Given the description of an element on the screen output the (x, y) to click on. 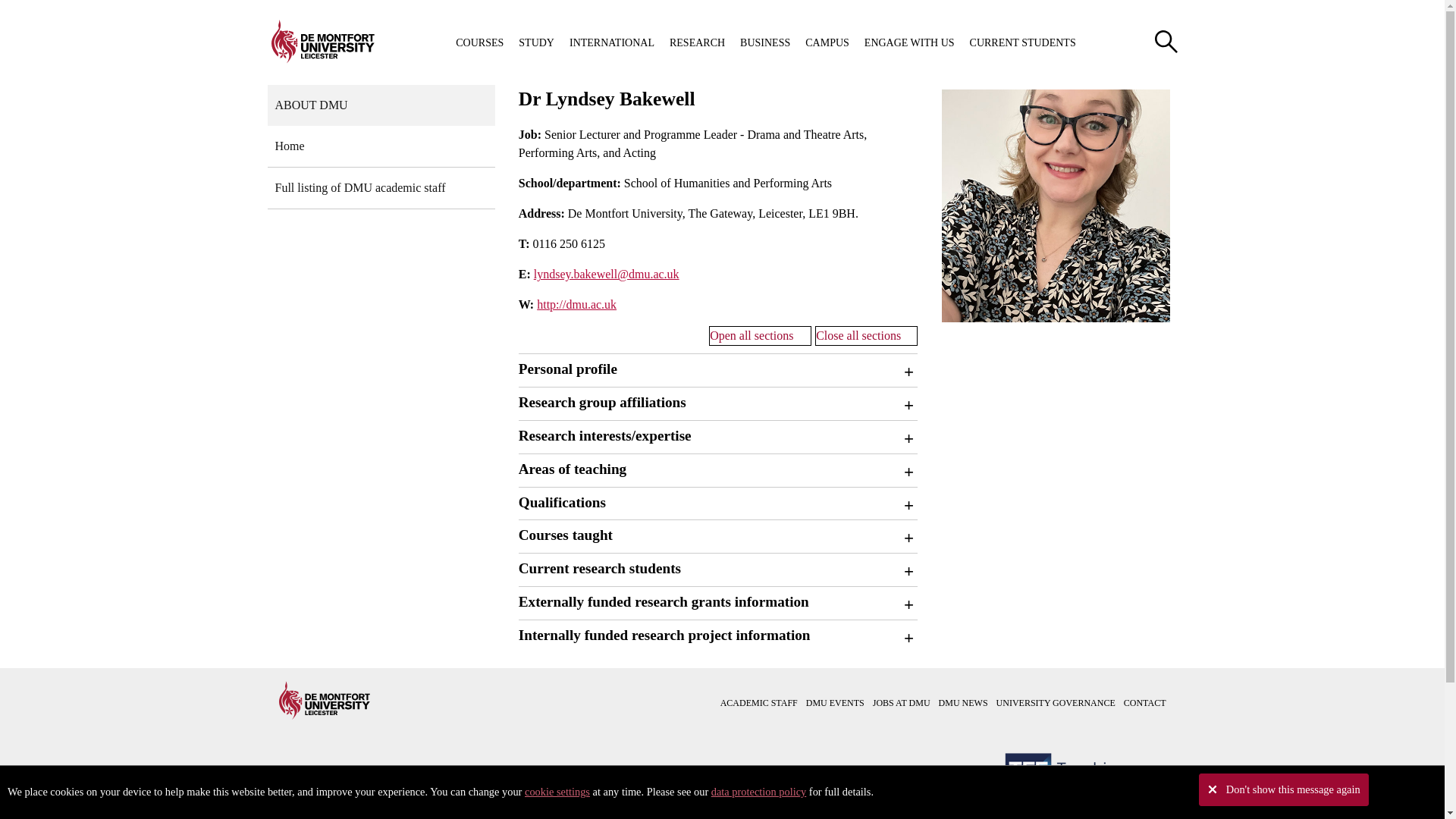
DMU Logo (322, 41)
Don't show this message again (1283, 789)
Data Protection at DMU (758, 791)
Go to: About DMU (380, 105)
search-results (1165, 41)
Home (380, 146)
Full listing of DMU academic staff (380, 188)
data protection policy (758, 791)
Cookies (556, 791)
COURSES (479, 42)
